Given the description of an element on the screen output the (x, y) to click on. 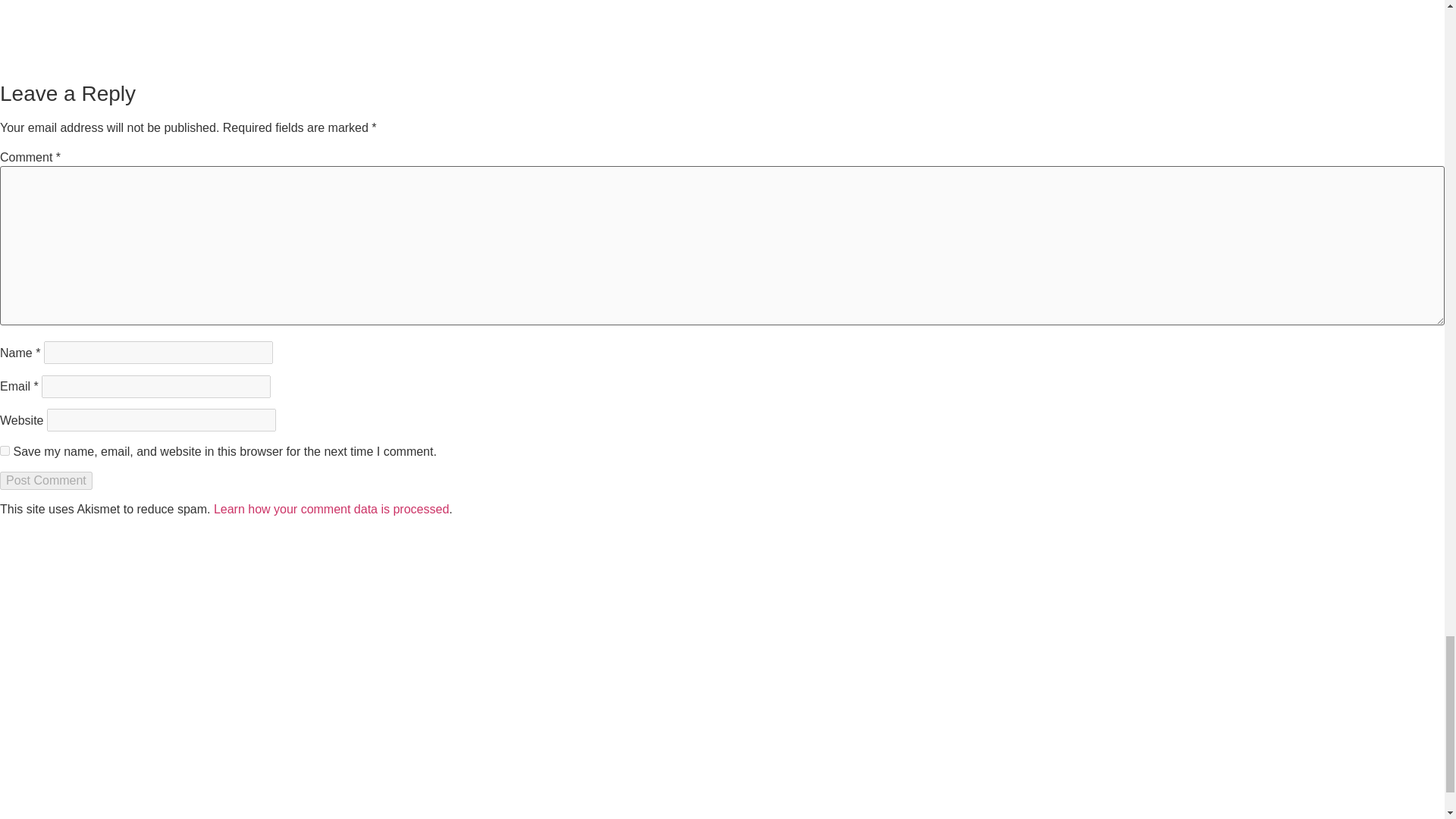
Post Comment (46, 480)
yes (5, 450)
